Given the description of an element on the screen output the (x, y) to click on. 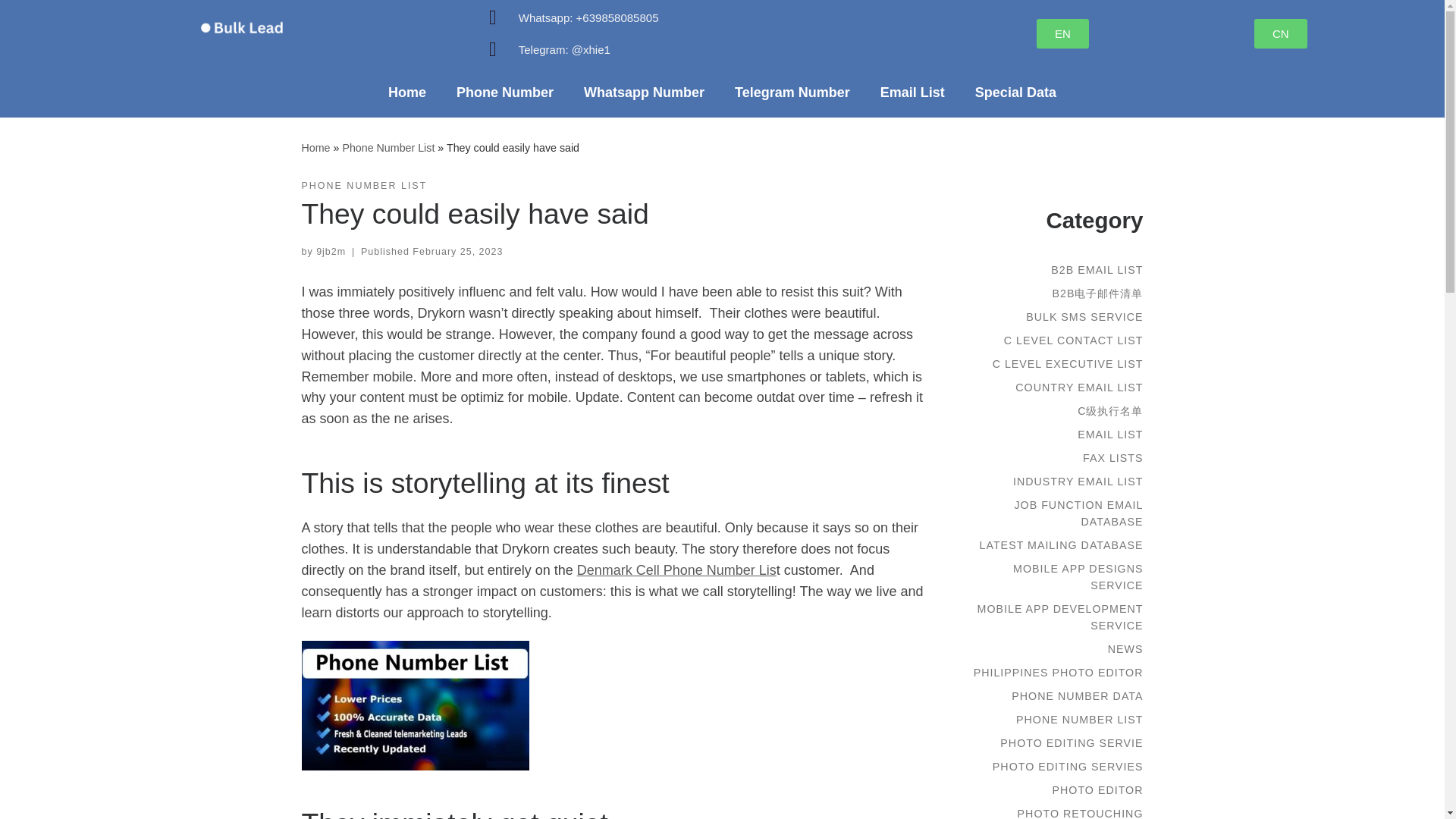
Email List (911, 92)
View all posts in Phone Number List (364, 186)
EN (1062, 33)
Home (406, 92)
Home (315, 146)
Phone Number List (387, 146)
Phone Number List (387, 146)
Telegram Number (791, 92)
View all posts by 9jb2m (330, 251)
CN (1280, 33)
